Given the description of an element on the screen output the (x, y) to click on. 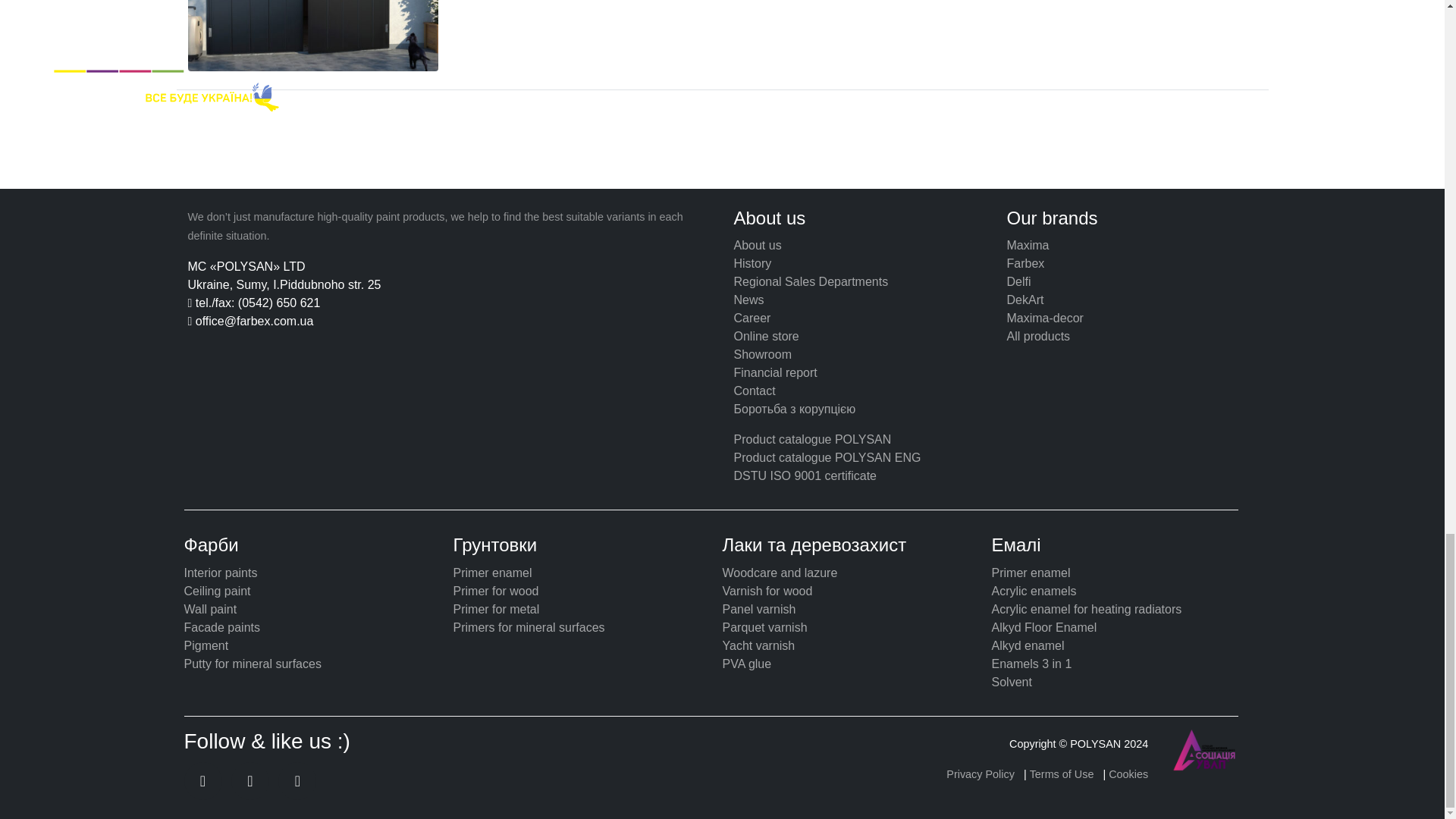
Career (752, 318)
Regional Sales Departments (810, 281)
Showroom (762, 354)
About us (757, 245)
History (752, 263)
News (748, 299)
Financial report (774, 372)
Online store (766, 336)
Contact (754, 390)
